Given the description of an element on the screen output the (x, y) to click on. 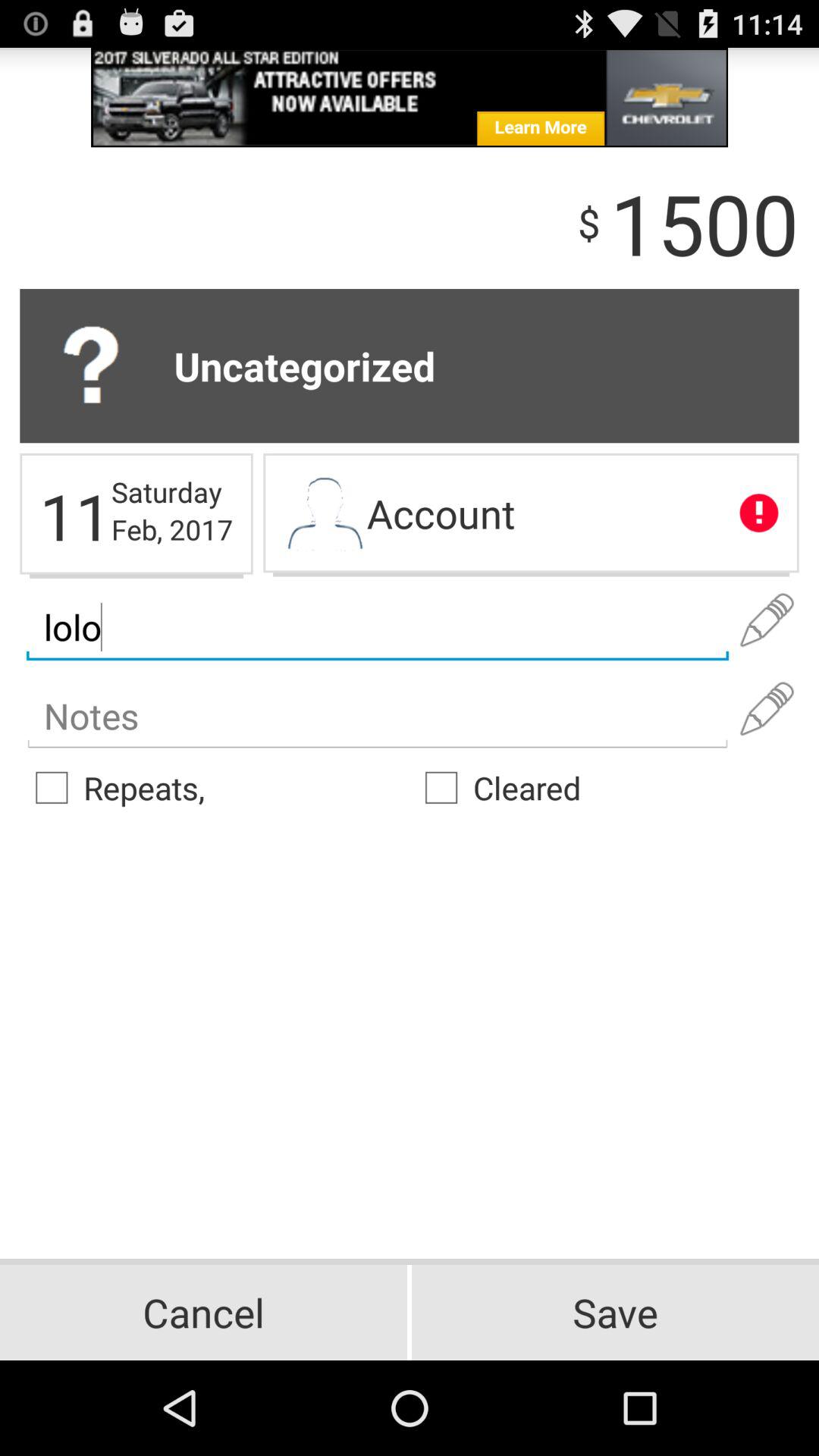
account (324, 514)
